Given the description of an element on the screen output the (x, y) to click on. 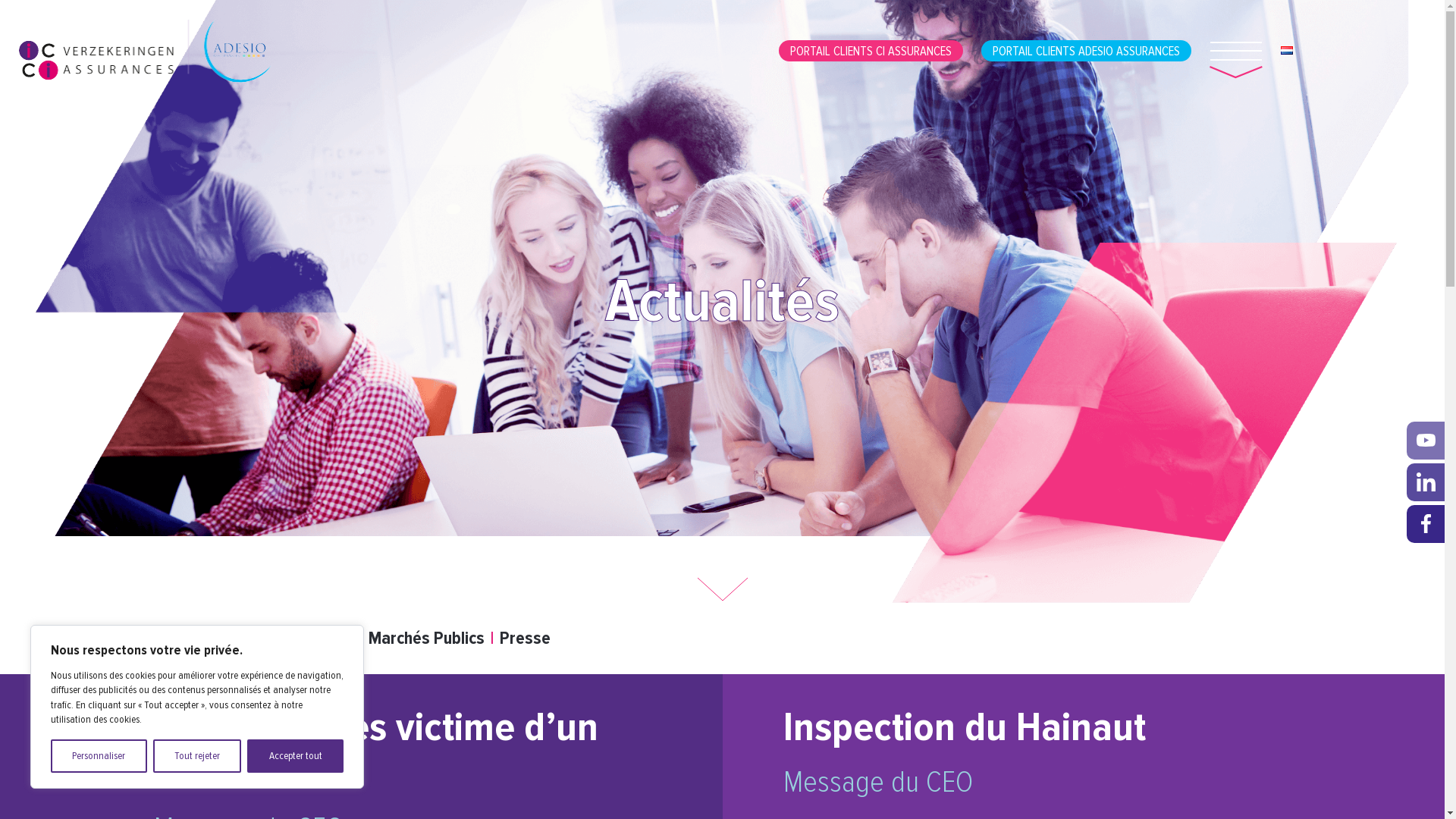
Personnaliser Element type: text (98, 755)
PORTAIL CLIENTS ADESIO ASSURANCES Element type: text (1086, 51)
Tout rejeter Element type: text (197, 755)
Secteurs Element type: text (321, 638)
Accepter tout Element type: text (295, 755)
Presse Element type: text (523, 638)
Message du CEO Element type: text (213, 638)
PORTAIL CLIENTS CI ASSURANCES Element type: text (870, 51)
